Given the description of an element on the screen output the (x, y) to click on. 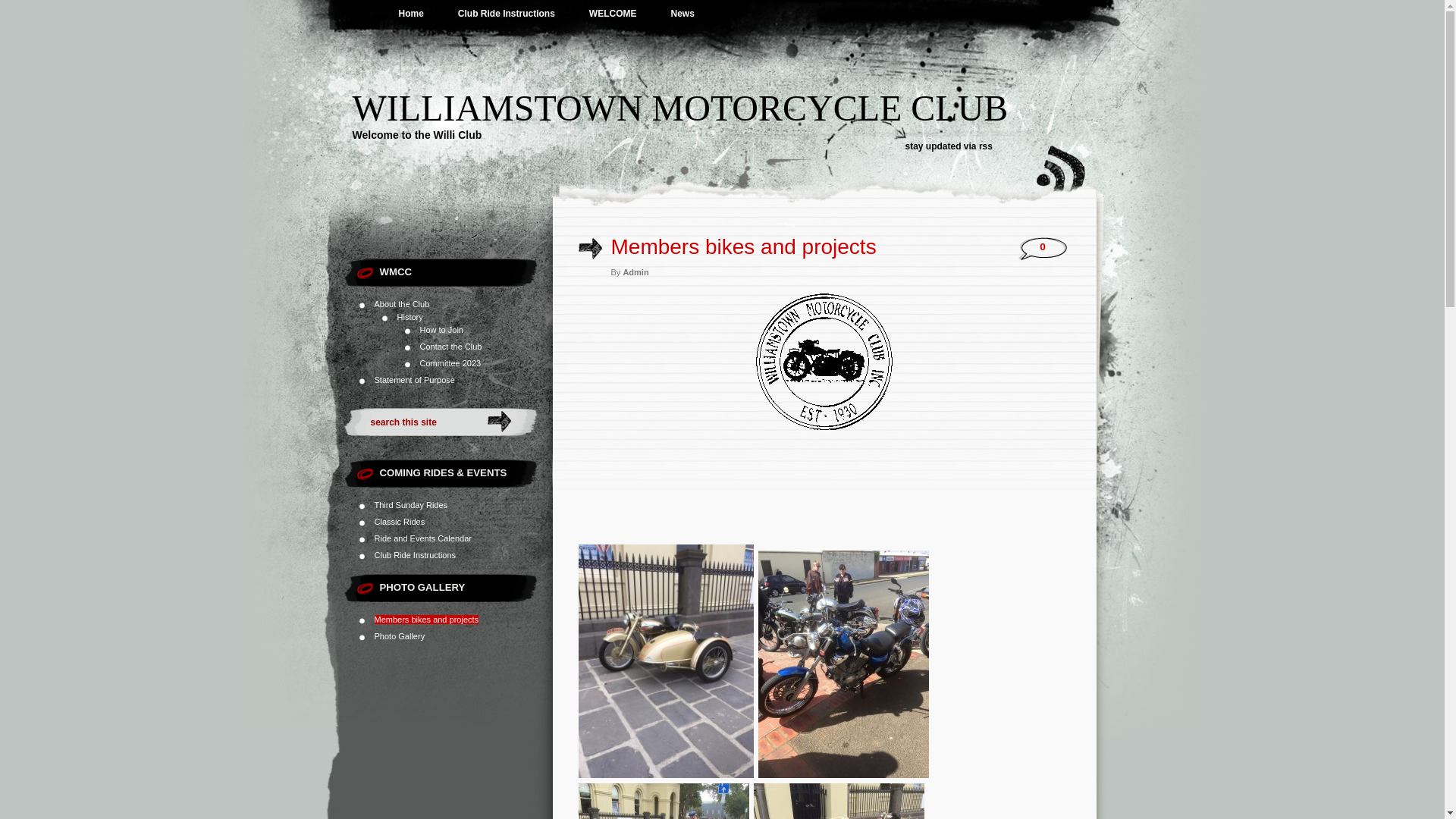
rss Element type: text (985, 146)
Club Ride Instructions Element type: text (415, 554)
Photo Gallery Element type: text (399, 635)
History Element type: text (410, 316)
Club Ride Instructions Element type: text (506, 13)
0 Element type: text (1042, 246)
WILLIAMSTOWN MOTORCYCLE CLUB Element type: text (679, 107)
Committee 2023 Element type: text (450, 362)
WELCOME Element type: text (612, 13)
How to Join Element type: text (441, 329)
Ride and Events Calendar Element type: text (422, 537)
About the Club Element type: text (401, 303)
News Element type: text (682, 13)
Statement of Purpose Element type: text (414, 379)
Members bikes and projects Element type: text (426, 619)
Third Sunday Rides Element type: text (411, 504)
Contact the Club Element type: text (451, 346)
Classic Rides Element type: text (399, 521)
Home Element type: text (411, 13)
